Given the description of an element on the screen output the (x, y) to click on. 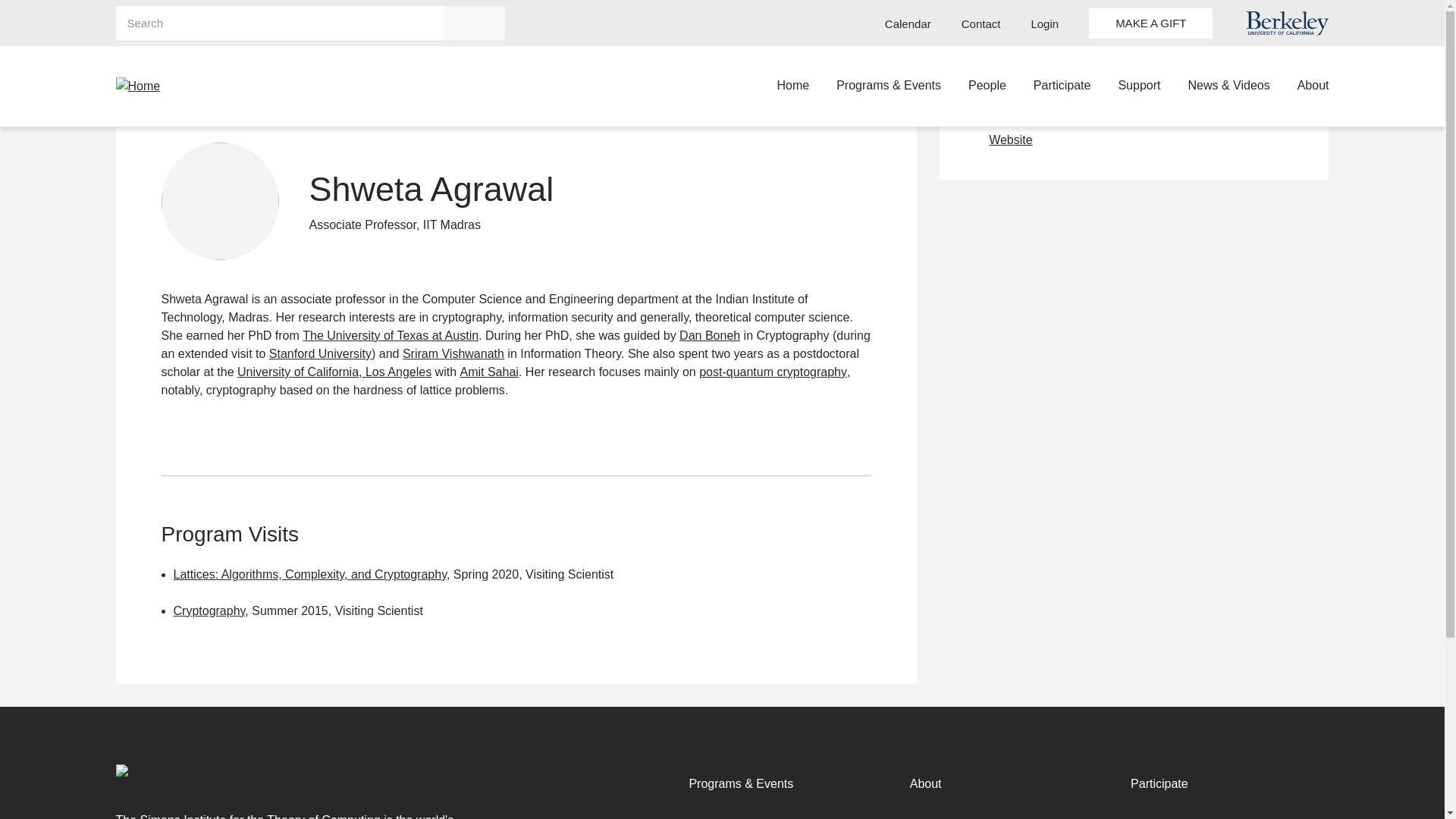
Search (474, 22)
Participate (1061, 86)
Calendar (908, 24)
Contact (980, 24)
Search (474, 22)
Support (1139, 86)
MAKE A GIFT (1150, 22)
Login (1044, 24)
